Given the description of an element on the screen output the (x, y) to click on. 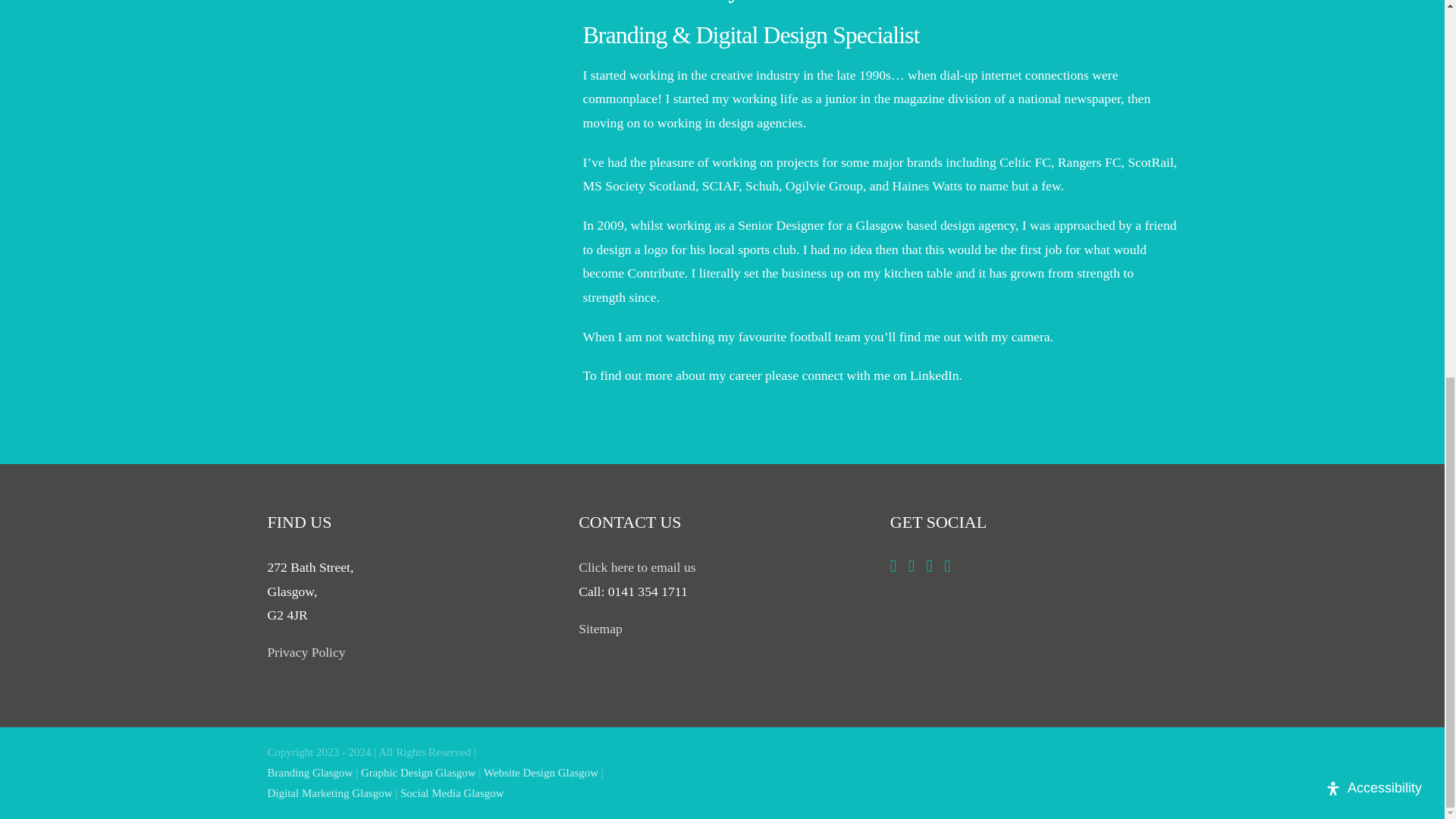
Social Media Glasgow (451, 793)
Graphic Design Glasgow (418, 772)
connect with me on LinkedIn (880, 375)
Click here to email us (636, 566)
Digital Marketing Glasgow (328, 793)
Sitemap (600, 628)
My Picture 2 (406, 146)
Website Design Glasgow (540, 772)
Privacy Policy (305, 652)
Accessibility (1374, 90)
